Given the description of an element on the screen output the (x, y) to click on. 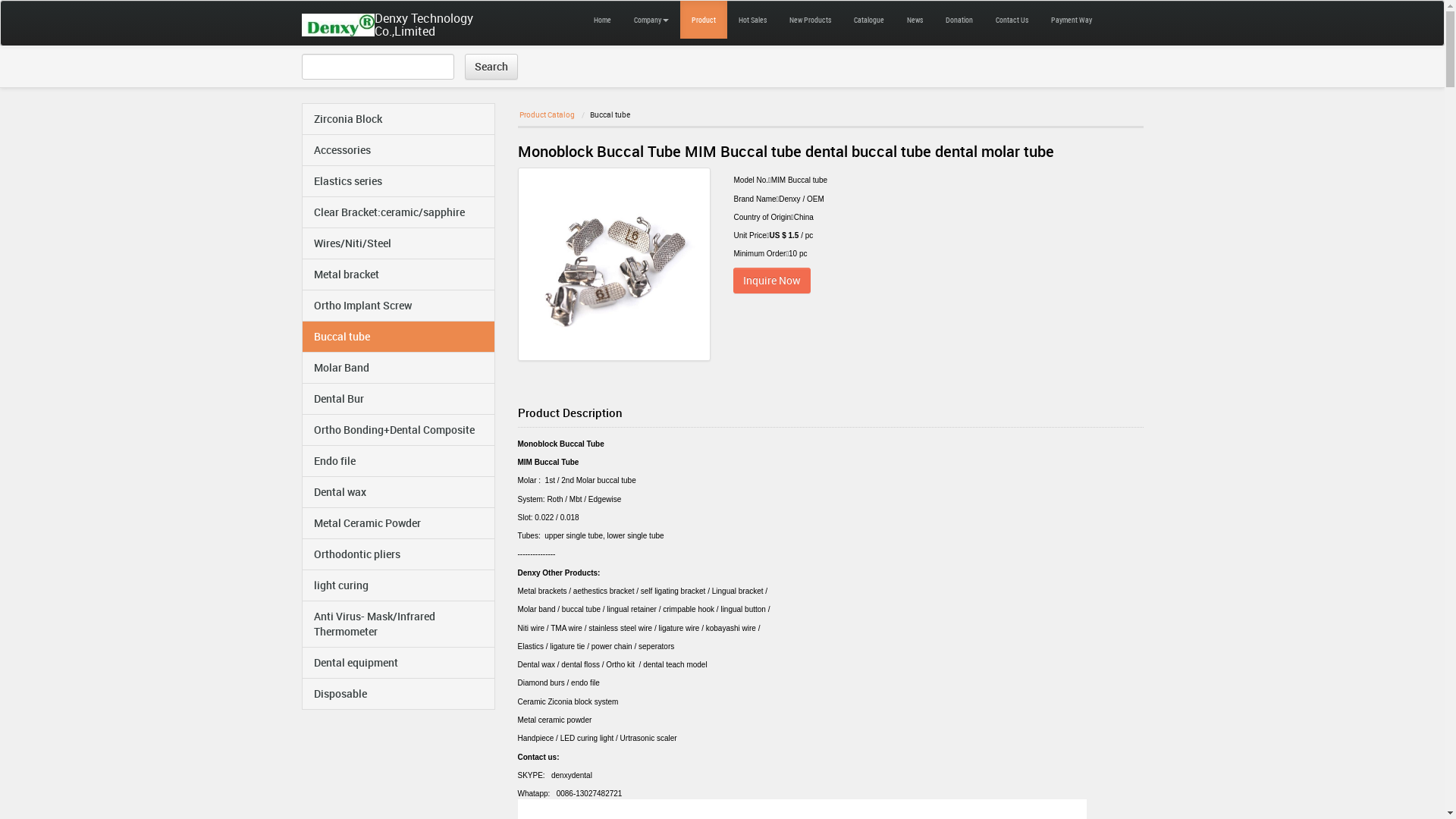
Ortho Bonding+Dental Composite Element type: text (397, 429)
Wires/Niti/Steel Element type: text (397, 243)
Search Element type: text (490, 66)
Zirconia Block Element type: text (397, 118)
Product Element type: text (702, 19)
Clear Bracket:ceramic/sapphire Element type: text (397, 212)
Company Element type: text (650, 19)
light curing Element type: text (397, 585)
Molar Band Element type: text (397, 367)
Dental equipment Element type: text (397, 662)
Product Catalog Element type: text (546, 114)
Inquire Now Element type: text (771, 280)
Home Element type: text (602, 19)
Contact Us Element type: text (1011, 19)
Dental Bur Element type: text (397, 398)
Accessories Element type: text (397, 149)
Anti Virus- Mask/Infrared Thermometer Element type: text (397, 623)
Dental wax Element type: text (397, 491)
Donation Element type: text (959, 19)
Metal Ceramic Powder Element type: text (397, 523)
Payment Way Element type: text (1070, 19)
New Products Element type: text (810, 19)
Buccal tube Element type: text (397, 336)
Catalogue Element type: text (867, 19)
Hot Sales Element type: text (751, 19)
Endo file Element type: text (397, 460)
Metal bracket Element type: text (397, 274)
Ortho Implant Screw Element type: text (397, 305)
Disposable Element type: text (397, 693)
Orthodontic pliers Element type: text (397, 554)
News Element type: text (913, 19)
Denxy Technology Co.,Limited Element type: text (442, 22)
Elastics series Element type: text (397, 181)
Denxy Technology Co.,Limited Element type: hover (343, 23)
